Given the description of an element on the screen output the (x, y) to click on. 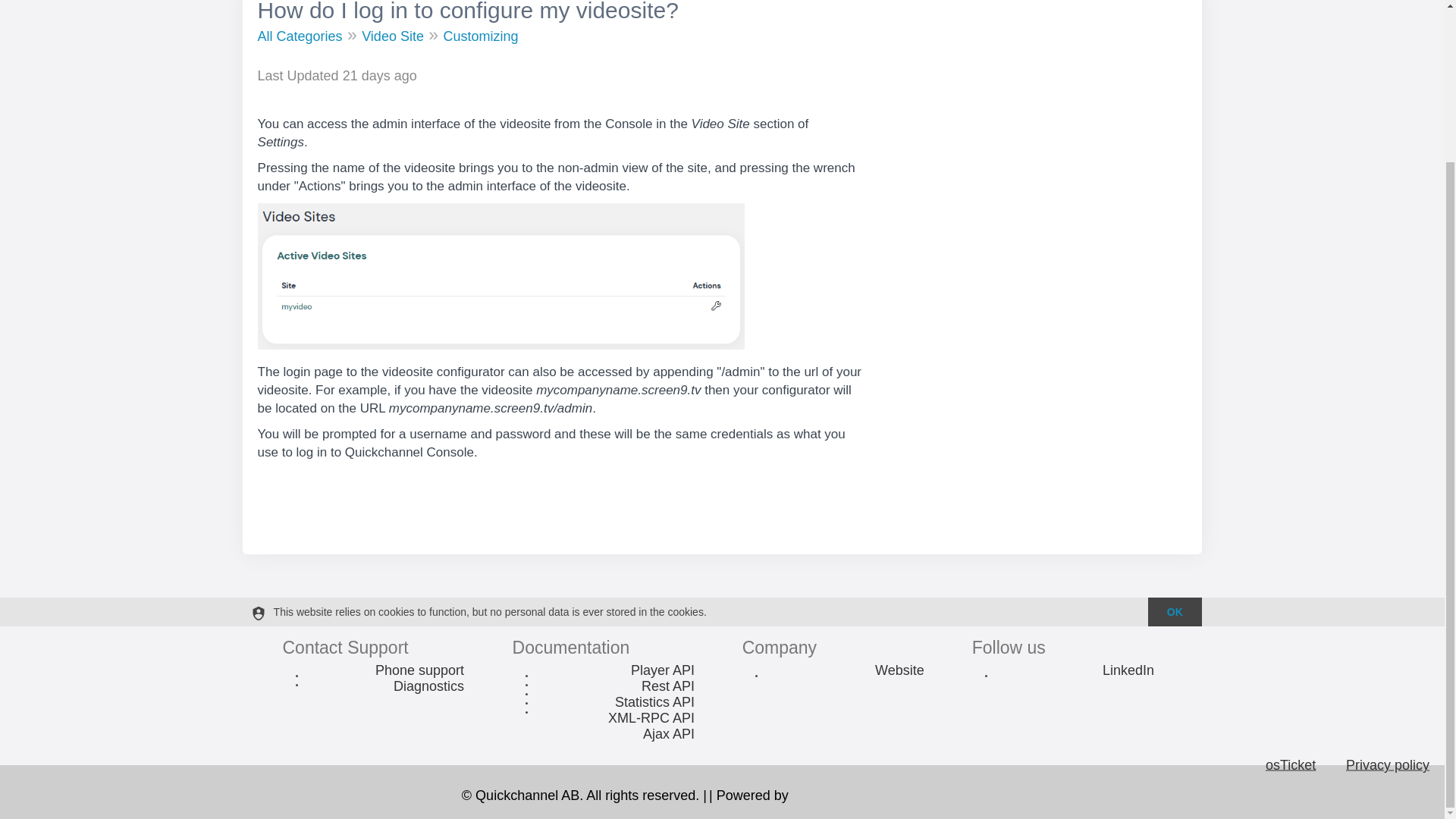
Diagnostics (428, 686)
XML-RPC API (651, 718)
Website (899, 670)
OK (1174, 611)
Video Site (392, 36)
Customizing (480, 36)
Ajax API (668, 734)
Statistics API (654, 702)
LinkedIn (1128, 670)
All Categories (299, 36)
